Given the description of an element on the screen output the (x, y) to click on. 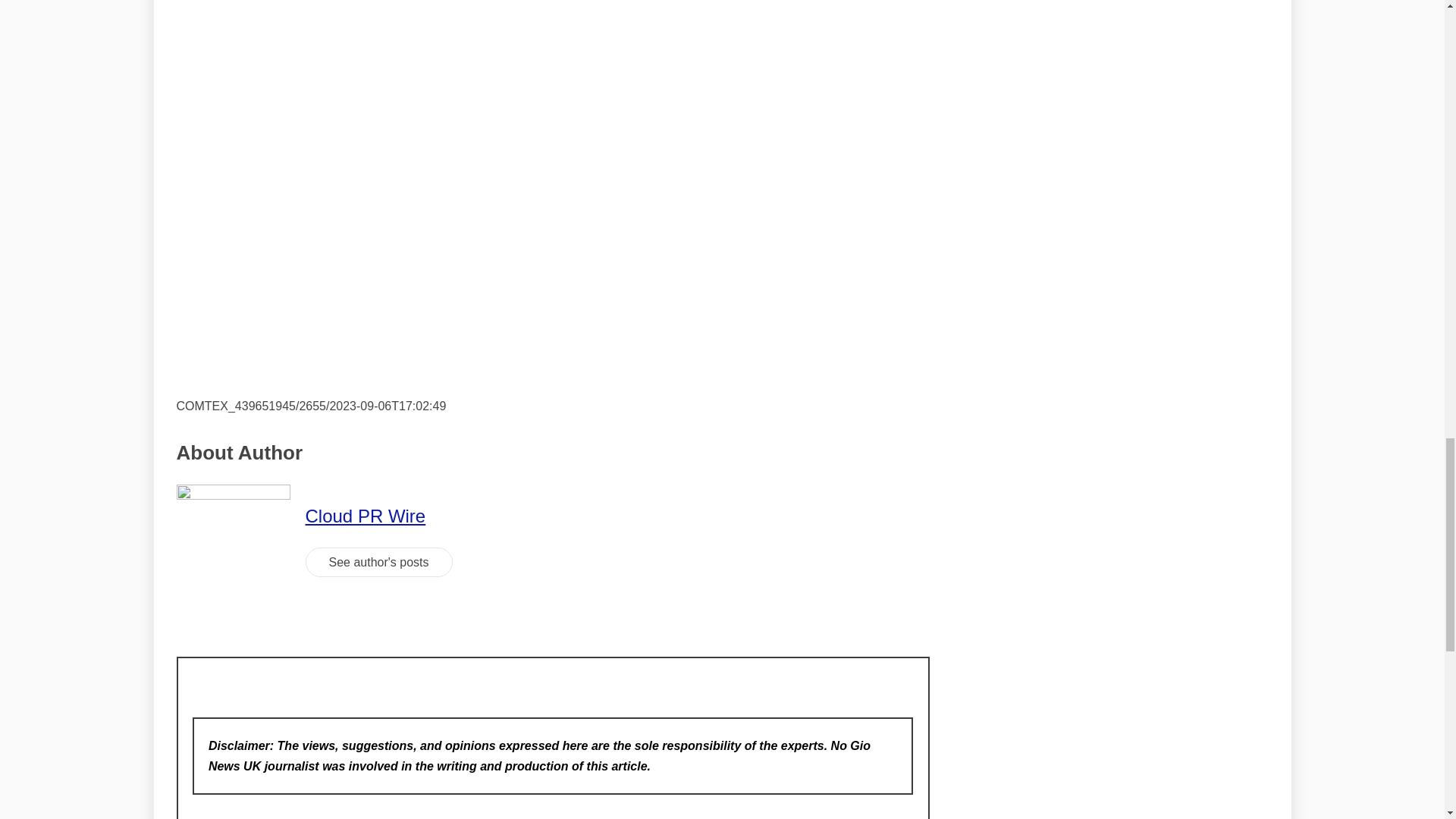
Cloud PR Wire (364, 516)
See author's posts (377, 562)
